Given the description of an element on the screen output the (x, y) to click on. 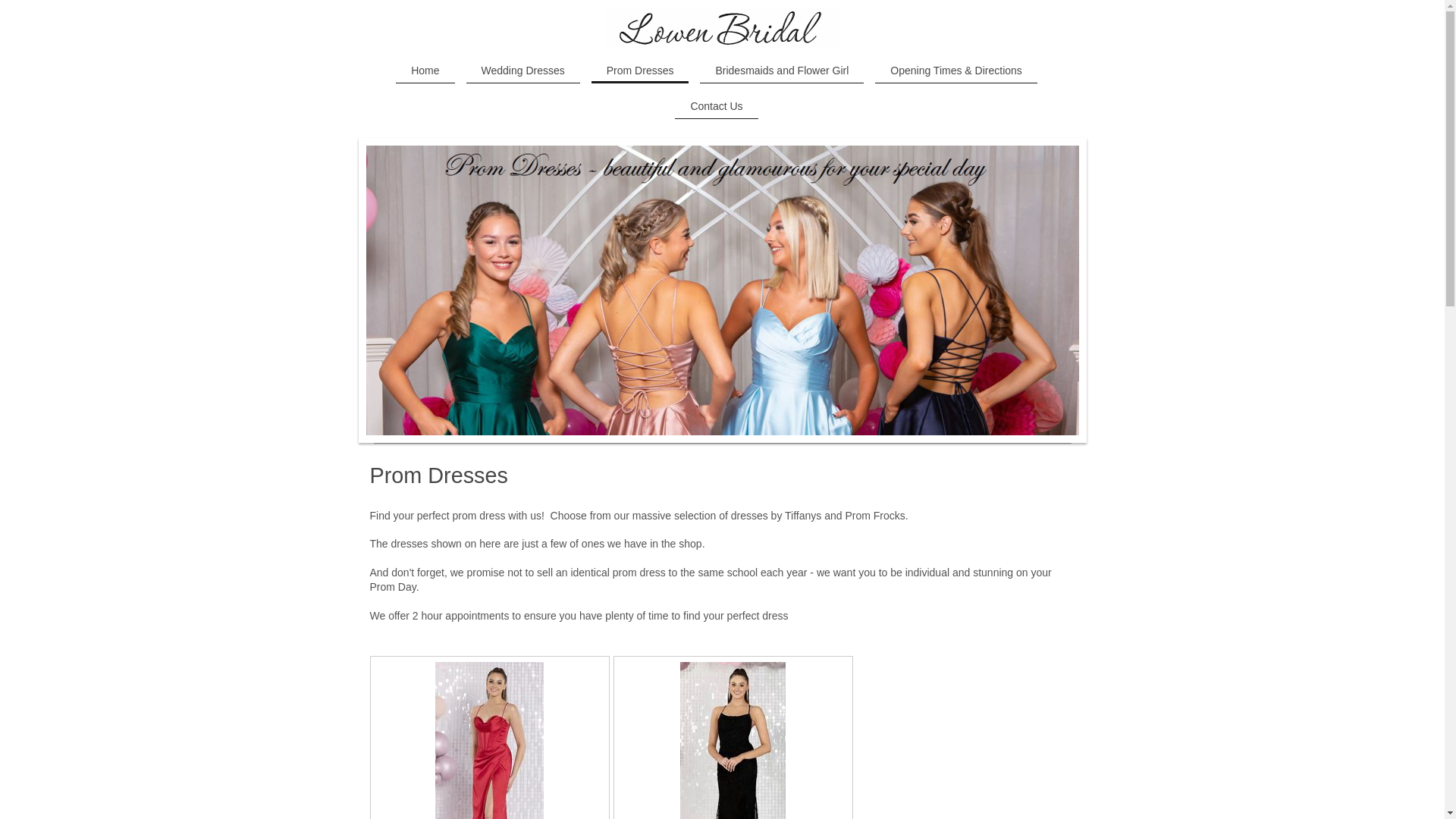
Prom Dresses (639, 70)
Wedding Dresses (522, 70)
Bridesmaids and Flower Girl (781, 70)
Home (425, 70)
Contact Us (716, 106)
